Given the description of an element on the screen output the (x, y) to click on. 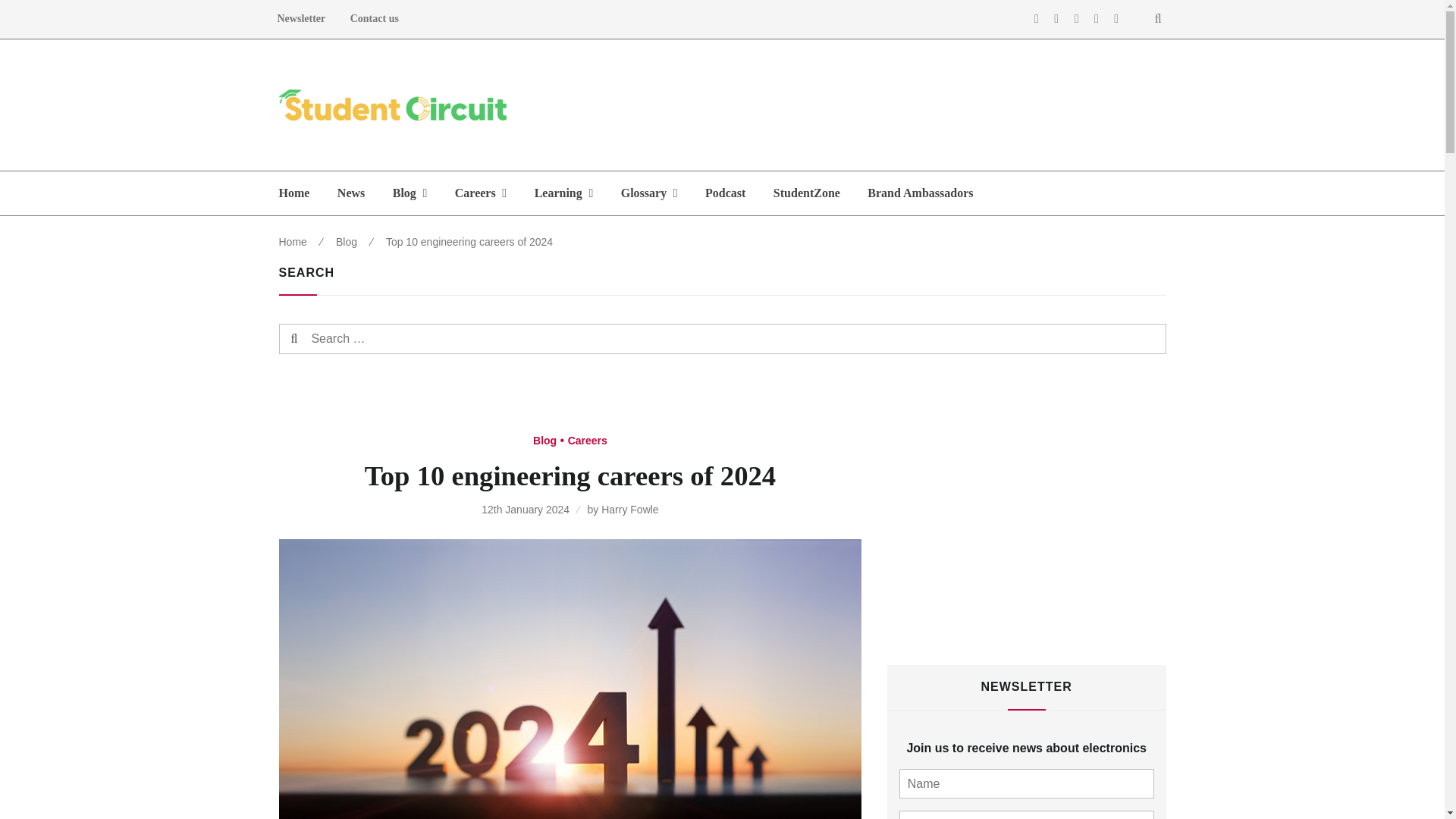
Search (321, 338)
3rd party ad content (890, 105)
Search (321, 338)
Careers (480, 193)
Blog (409, 193)
News (350, 193)
Newsletter (301, 19)
Contact us (374, 19)
Home (293, 193)
